Given the description of an element on the screen output the (x, y) to click on. 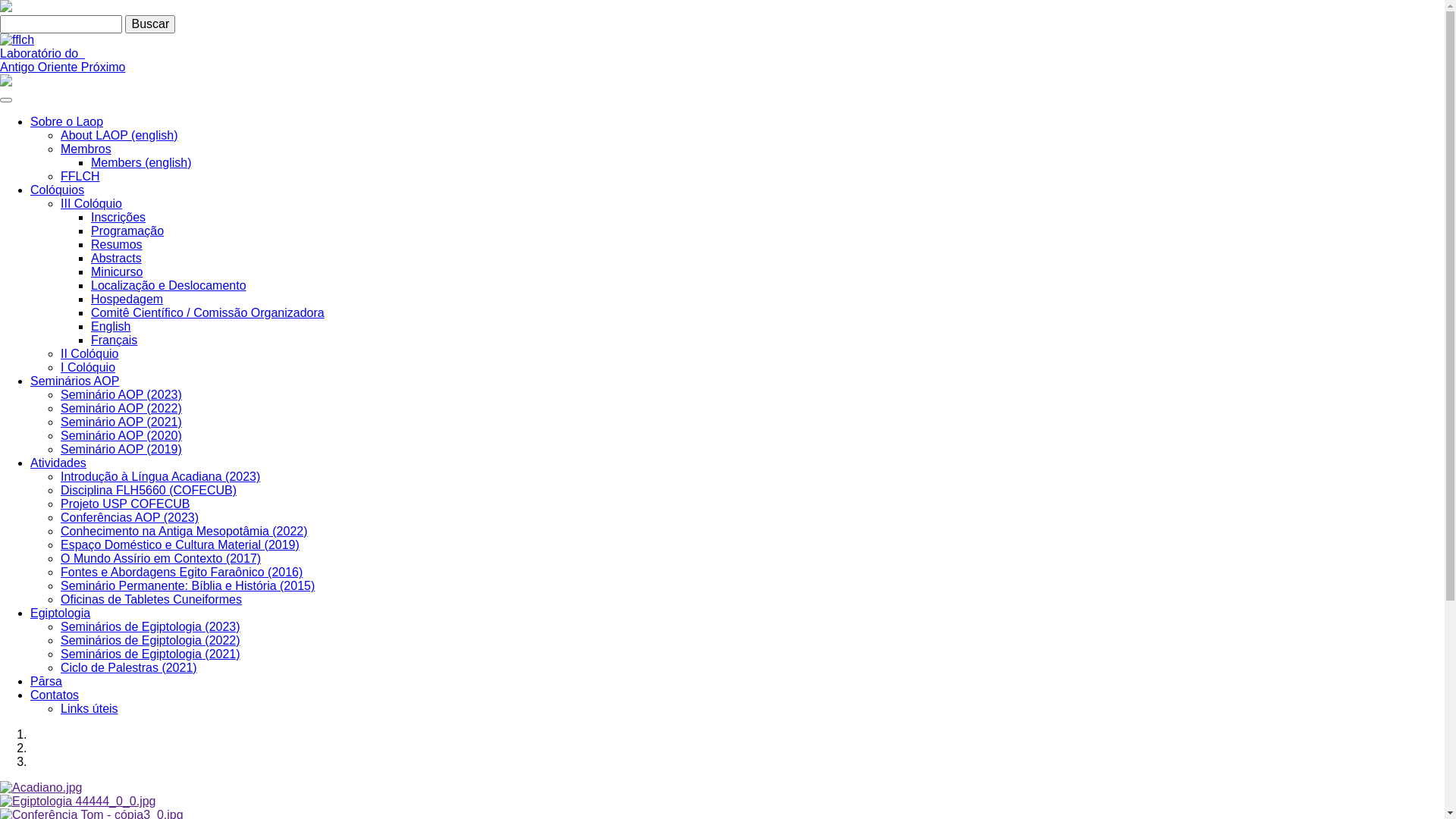
Membros Element type: text (85, 148)
About LAOP (english) Element type: text (118, 134)
FFLCH Element type: text (80, 175)
Egiptologia Element type: text (60, 612)
Projeto USP COFECUB Element type: text (124, 503)
Ciclo de Palestras (2021) Element type: text (128, 667)
English Element type: text (110, 326)
Disciplina FLH5660 (COFECUB) Element type: text (148, 489)
Hospedagem Element type: text (127, 298)
Atividades Element type: text (58, 462)
Buscar Element type: text (150, 24)
Abstracts Element type: text (116, 257)
Members (english) Element type: text (141, 162)
Resumos Element type: text (116, 244)
Oficinas de Tabletes Cuneiformes Element type: text (150, 599)
Contatos Element type: text (54, 694)
Sobre o Laop Element type: text (66, 121)
Minicurso Element type: text (116, 271)
